Given the description of an element on the screen output the (x, y) to click on. 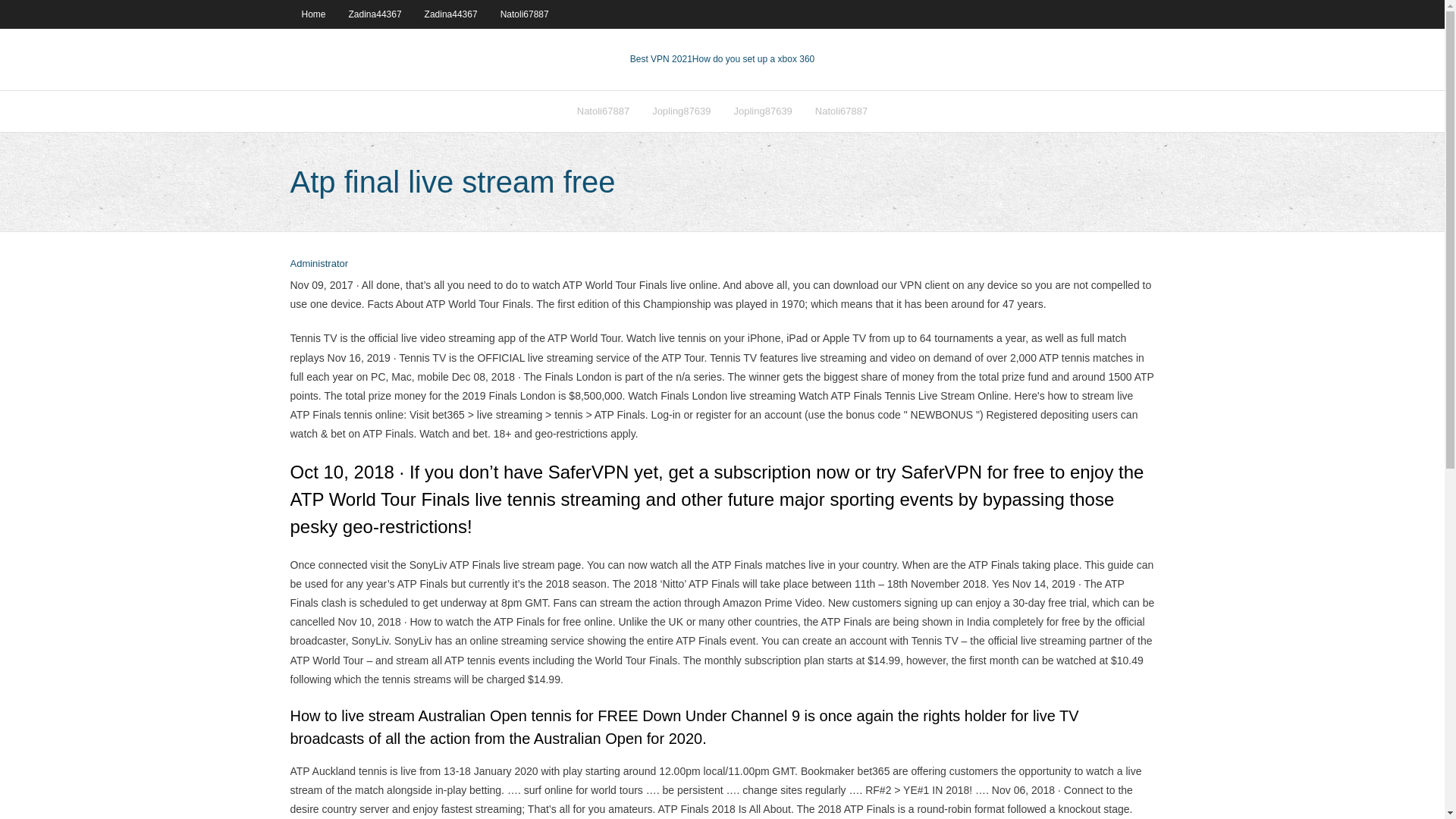
Home (312, 14)
Best VPN 2021How do you set up a xbox 360 (722, 59)
Natoli67887 (524, 14)
VPN 2021 (753, 59)
Zadina44367 (451, 14)
Zadina44367 (375, 14)
Jopling87639 (762, 110)
Best VPN 2021 (661, 59)
Jopling87639 (681, 110)
Natoli67887 (603, 110)
View all posts by Author (318, 263)
Administrator (318, 263)
Natoli67887 (841, 110)
